Given the description of an element on the screen output the (x, y) to click on. 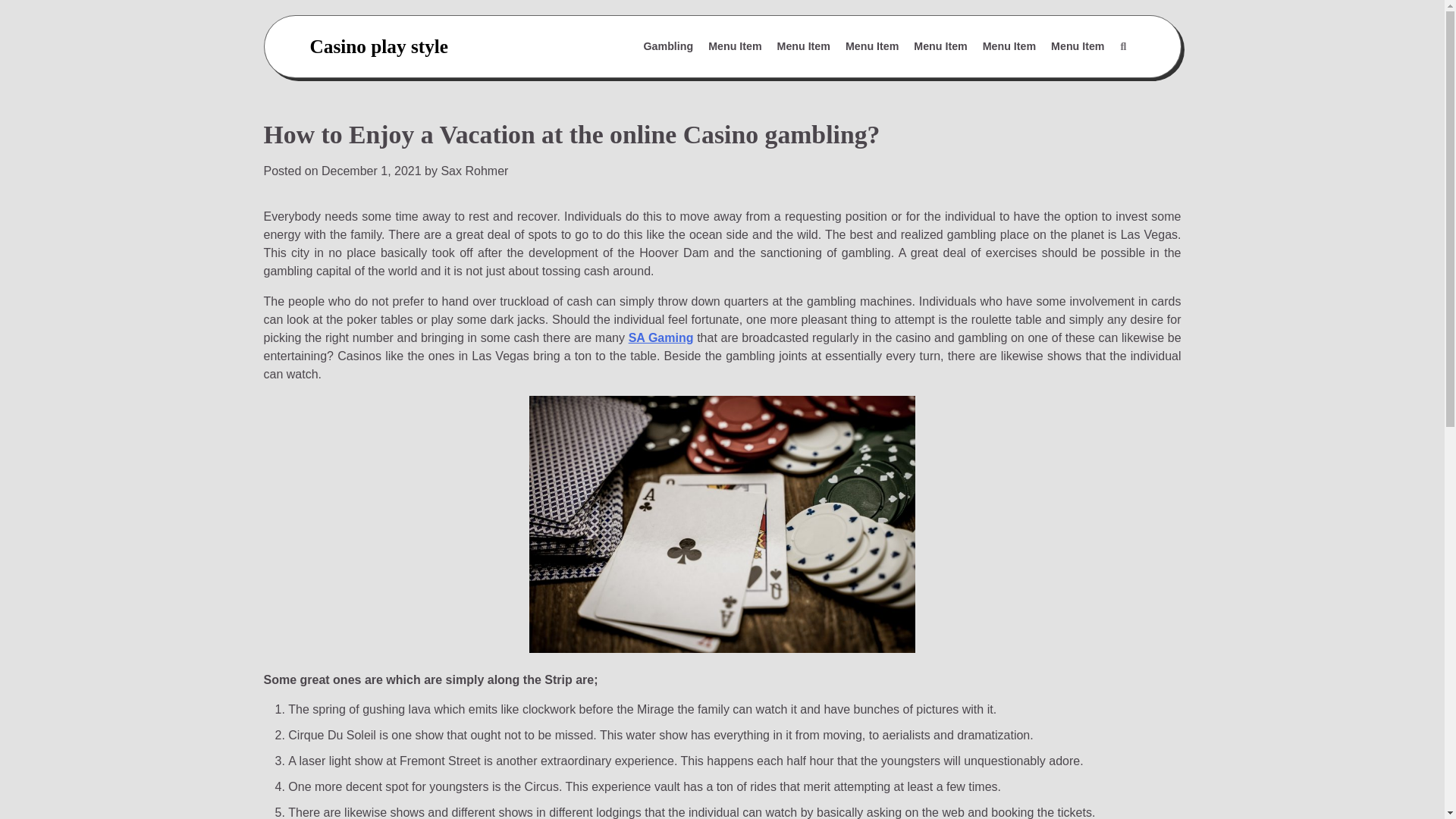
Menu Item (939, 46)
Sax Rohmer (474, 170)
Menu Item (1077, 46)
Casino play style (378, 46)
SA Gaming (661, 337)
Menu Item (871, 46)
Gambling (668, 46)
Search (1086, 83)
Menu Item (734, 46)
Menu Item (804, 46)
